Given the description of an element on the screen output the (x, y) to click on. 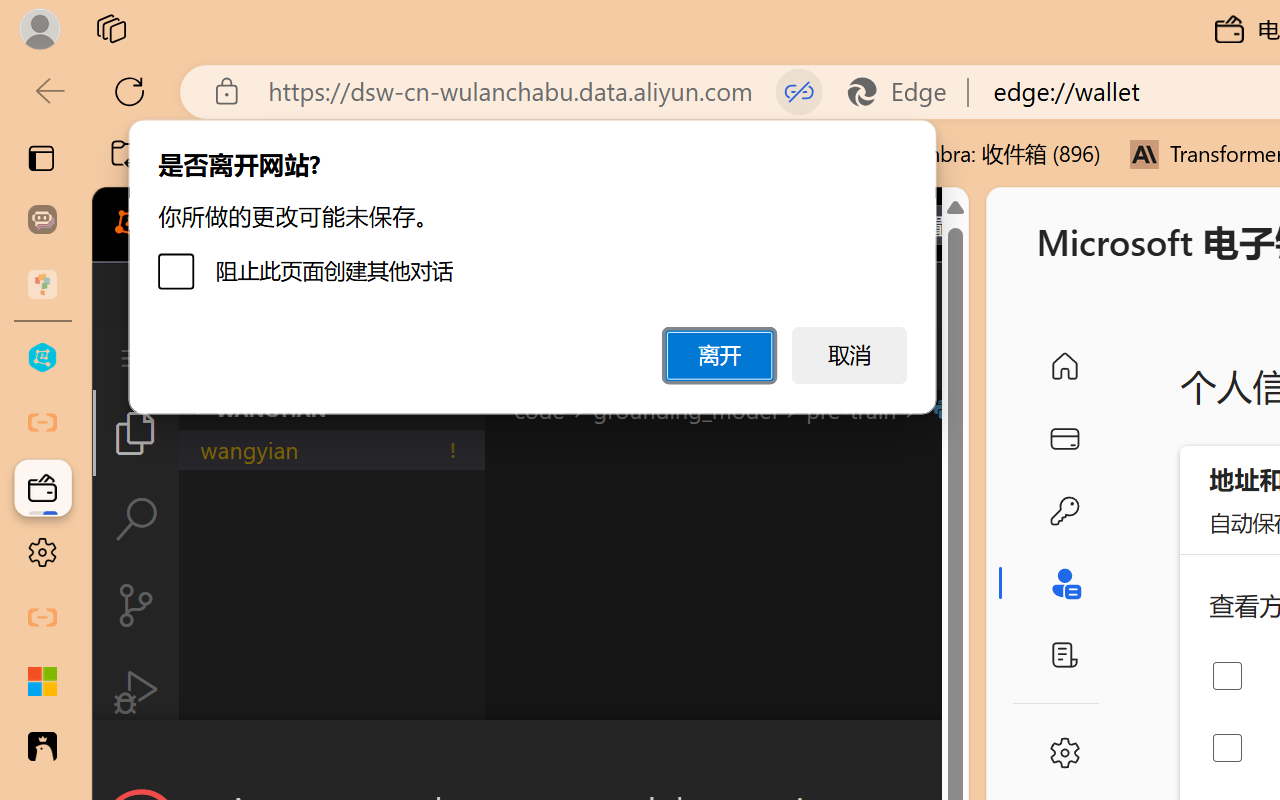
Run and Debug (Ctrl+Shift+D) (135, 692)
Class: actions-container (529, 756)
Close Dialog (959, 756)
Microsoft security help and learning (42, 681)
